Given the description of an element on the screen output the (x, y) to click on. 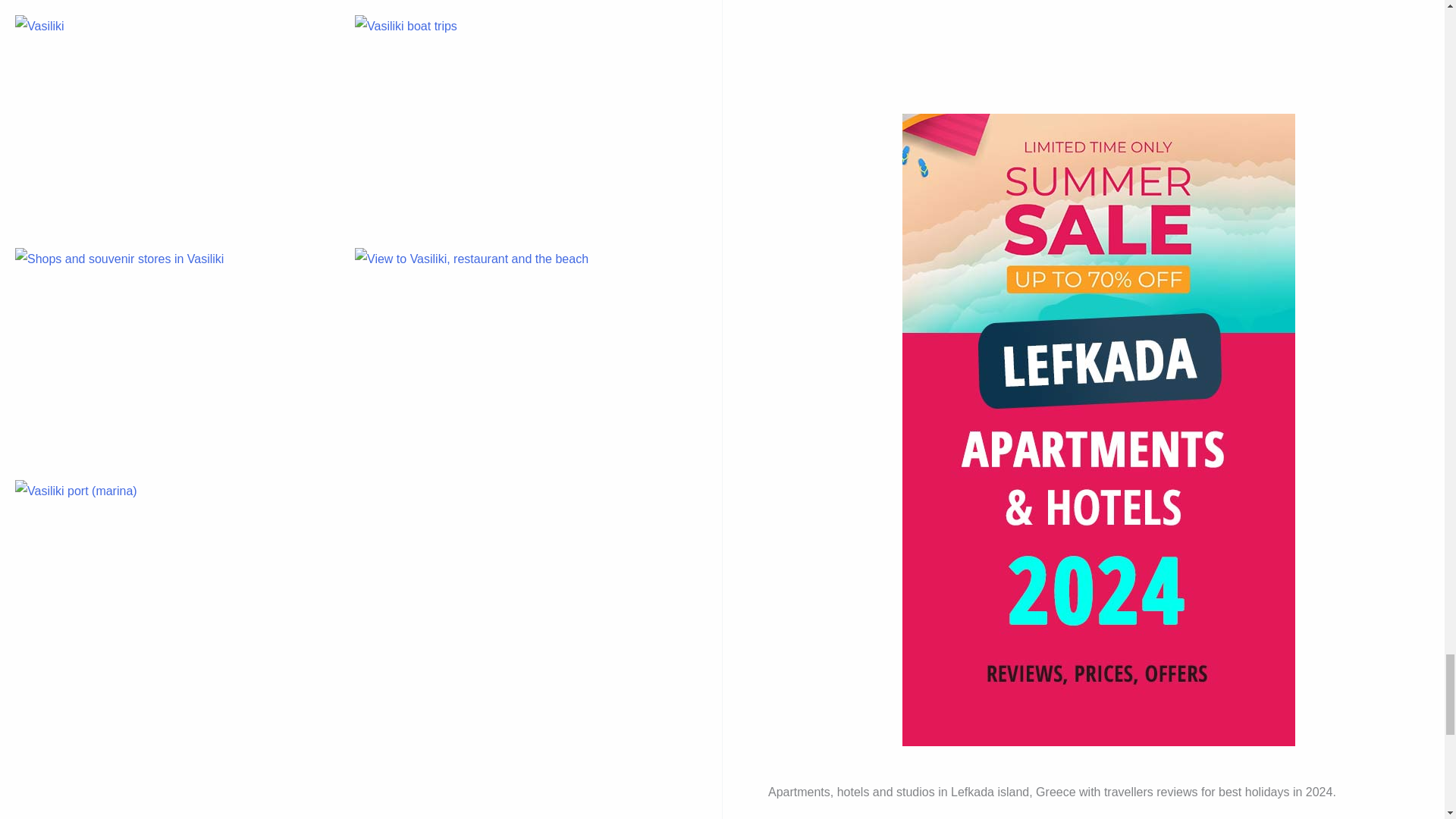
Vasiliki boat trips (516, 122)
View to Vasiliki, restaurant and the beach (516, 354)
Vasiliki (175, 122)
Shops and souvenir stores in Vasiliki (175, 354)
